Given the description of an element on the screen output the (x, y) to click on. 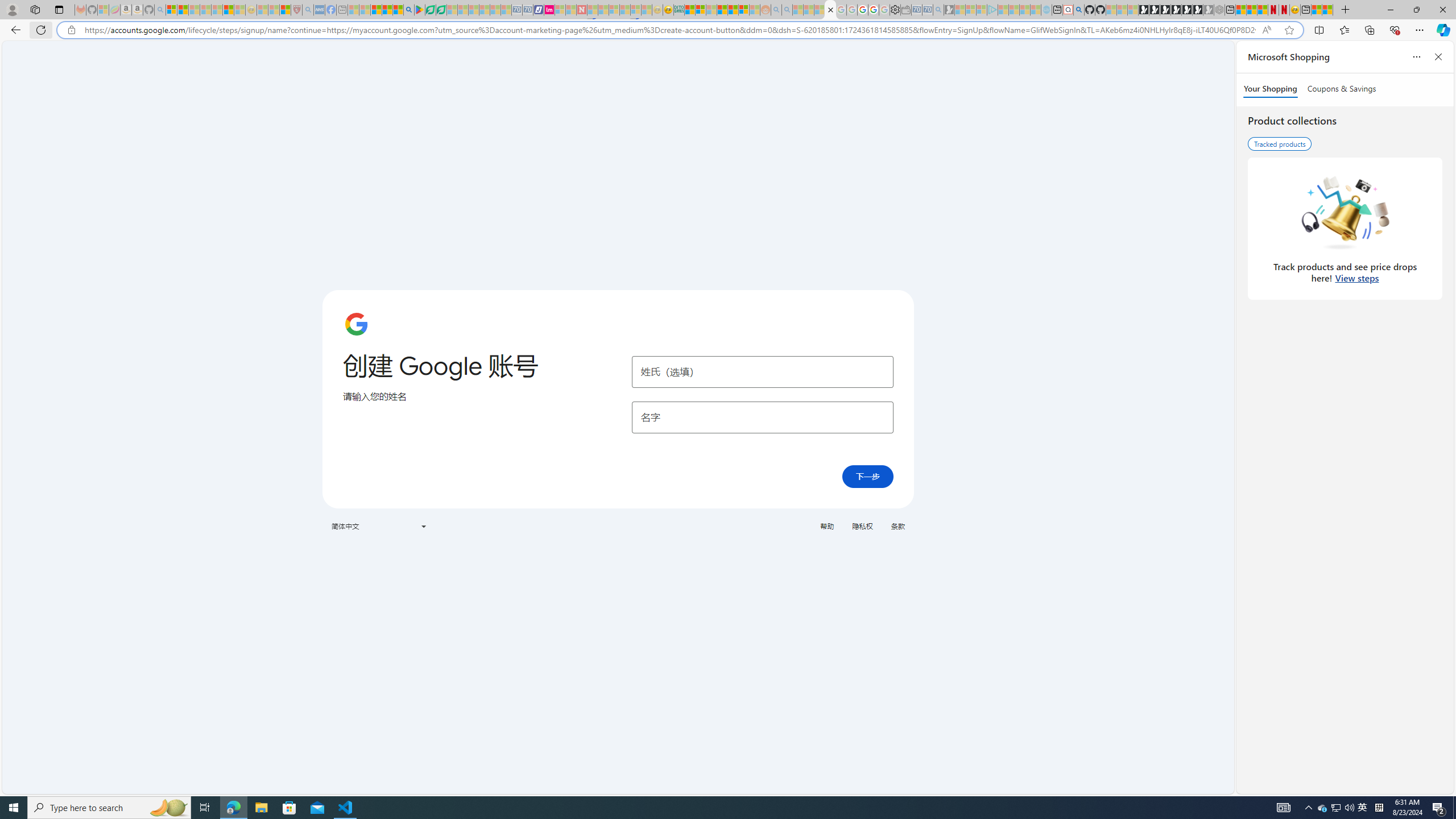
Trusted Community Engagement and Contributions | Guidelines (592, 9)
Local - MSN (285, 9)
MSNBC - MSN (689, 9)
